Given the description of an element on the screen output the (x, y) to click on. 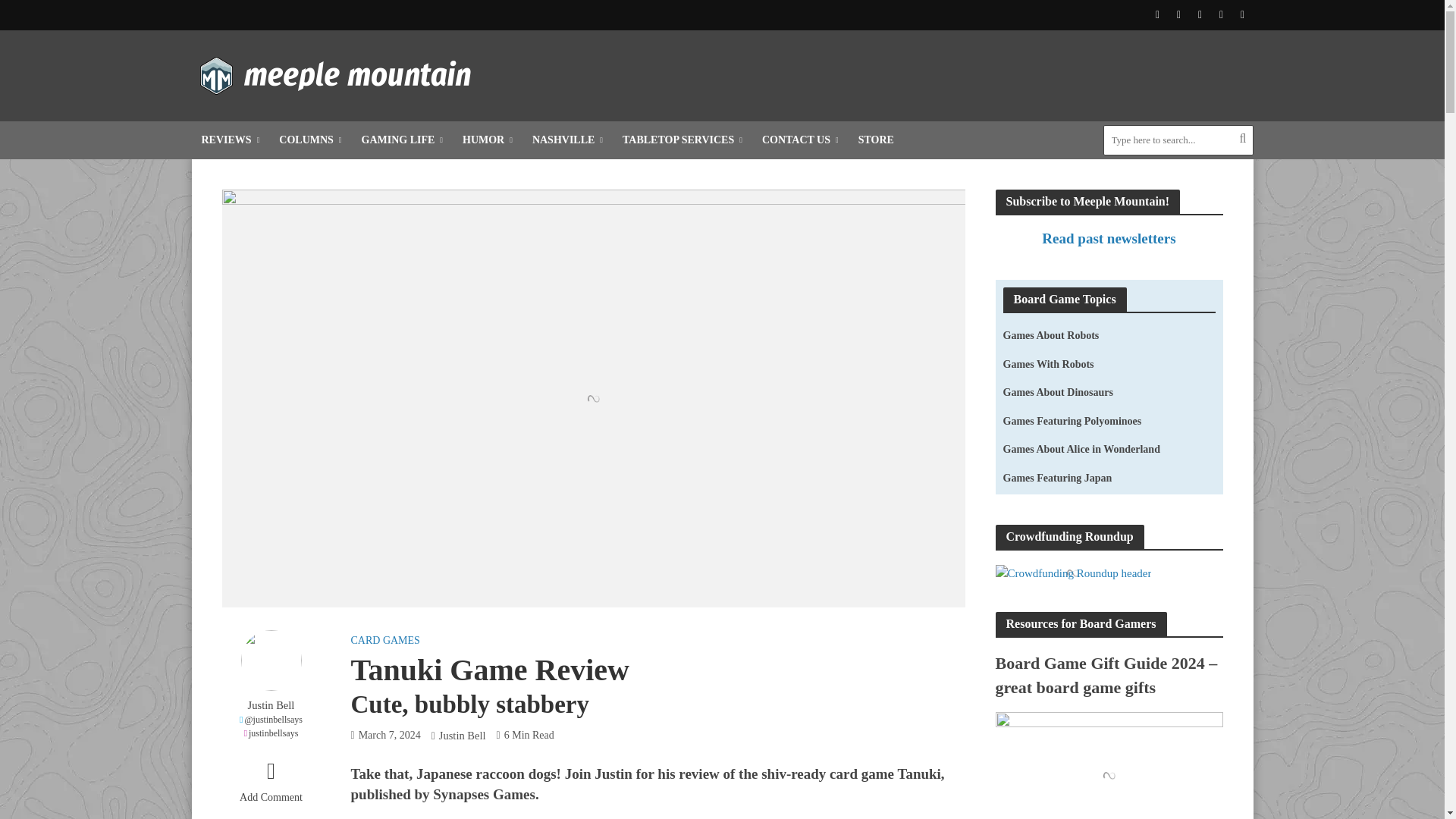
GAMING LIFE (402, 139)
REVIEWS (229, 139)
NASHVILLE (567, 139)
COLUMNS (309, 139)
HUMOR (487, 139)
